Given the description of an element on the screen output the (x, y) to click on. 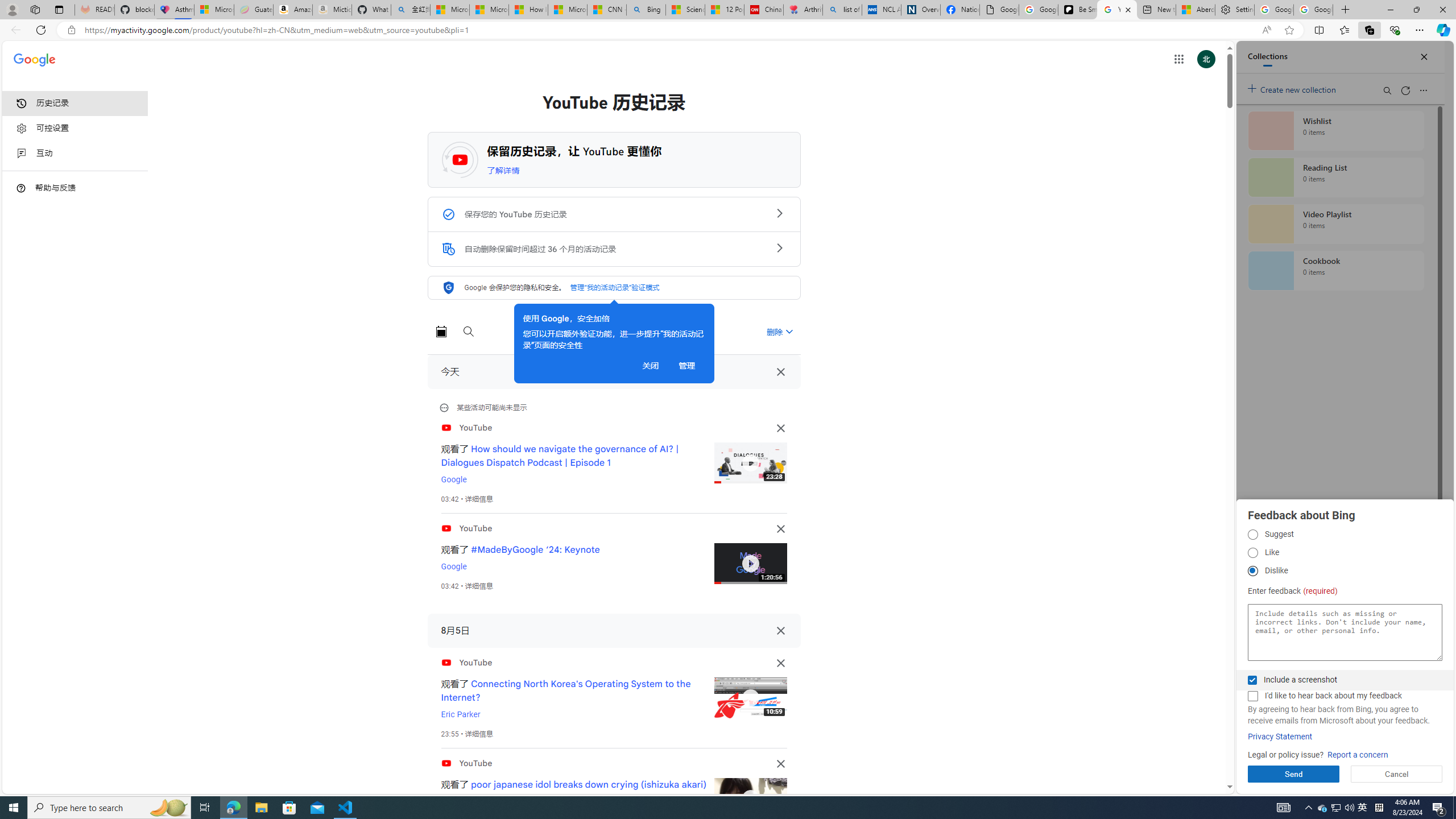
Send (1293, 773)
